Given the description of an element on the screen output the (x, y) to click on. 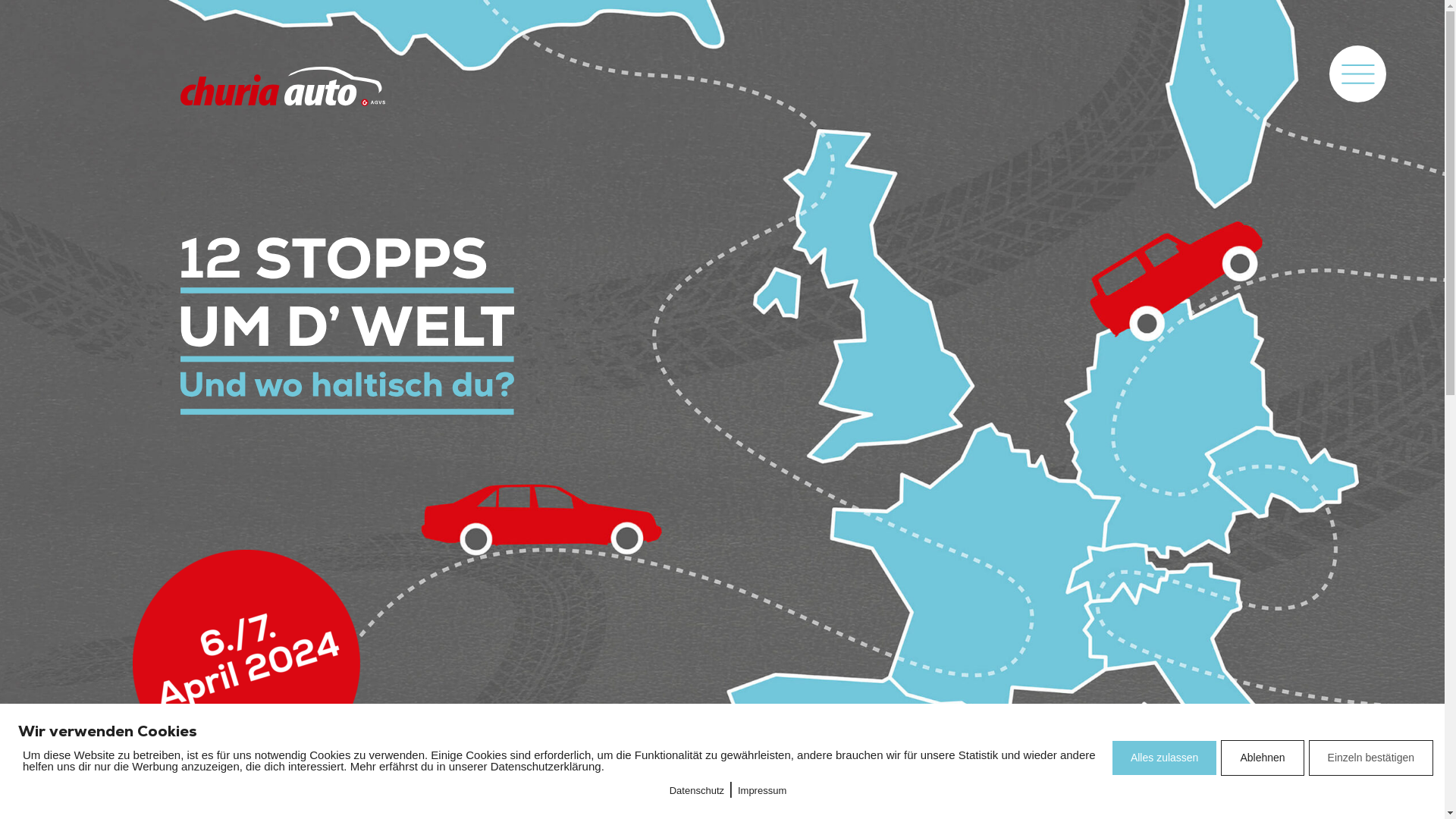
Datenschutz Element type: text (696, 790)
Ablehnen Element type: text (1261, 757)
Alles zulassen Element type: text (1164, 757)
Impressum Element type: text (761, 790)
